Given the description of an element on the screen output the (x, y) to click on. 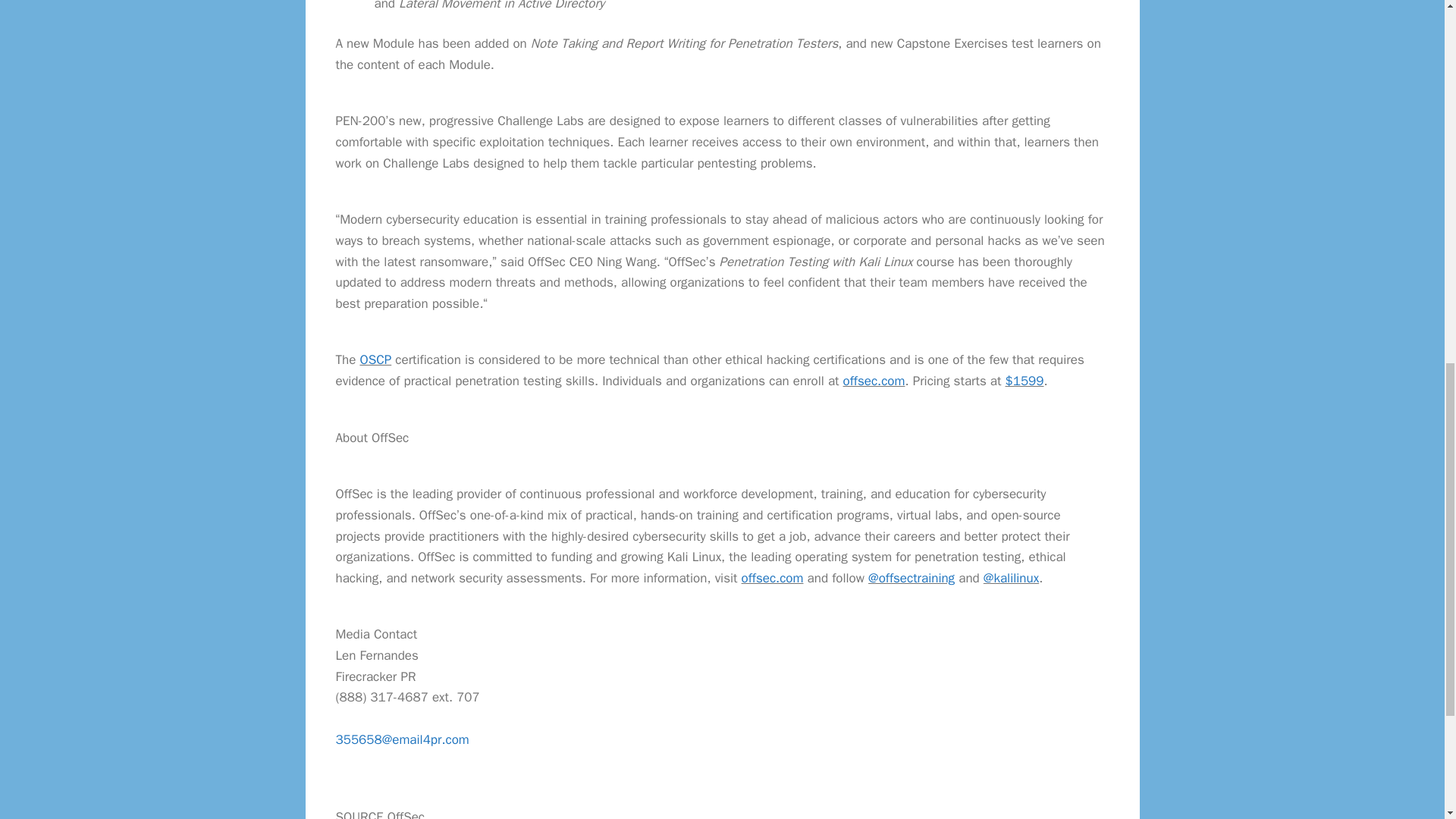
offsec.com (772, 578)
OSCP (375, 359)
offsec.com (874, 381)
